Given the description of an element on the screen output the (x, y) to click on. 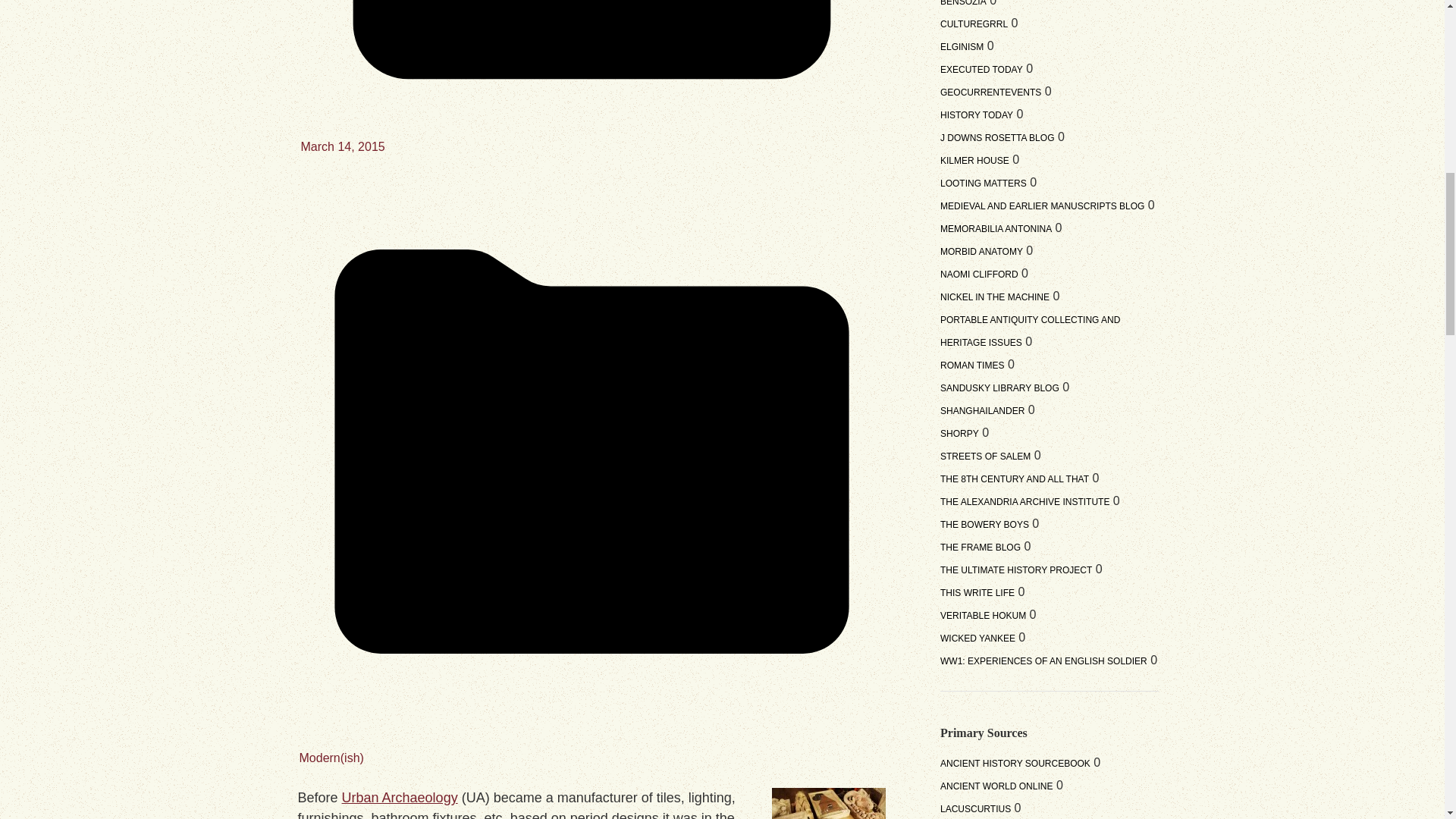
March 14, 2015 (341, 146)
Urban Archaeology (400, 797)
